Given the description of an element on the screen output the (x, y) to click on. 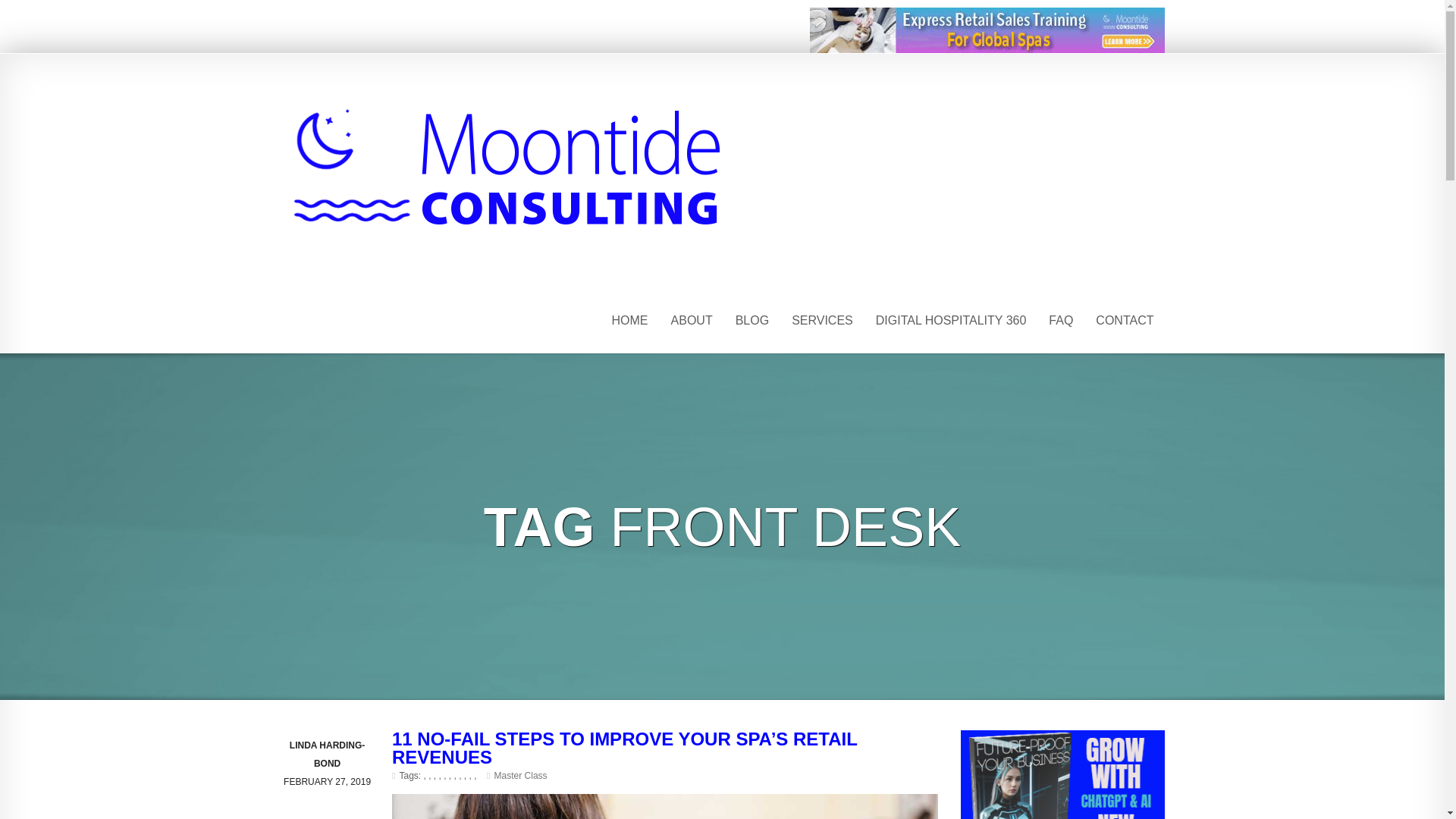
ABOUT (691, 320)
Master Class (521, 775)
CONTACT (1124, 320)
SERVICES (822, 320)
DIGITAL HOSPITALITY 360 (951, 320)
HOME (629, 320)
